Given the description of an element on the screen output the (x, y) to click on. 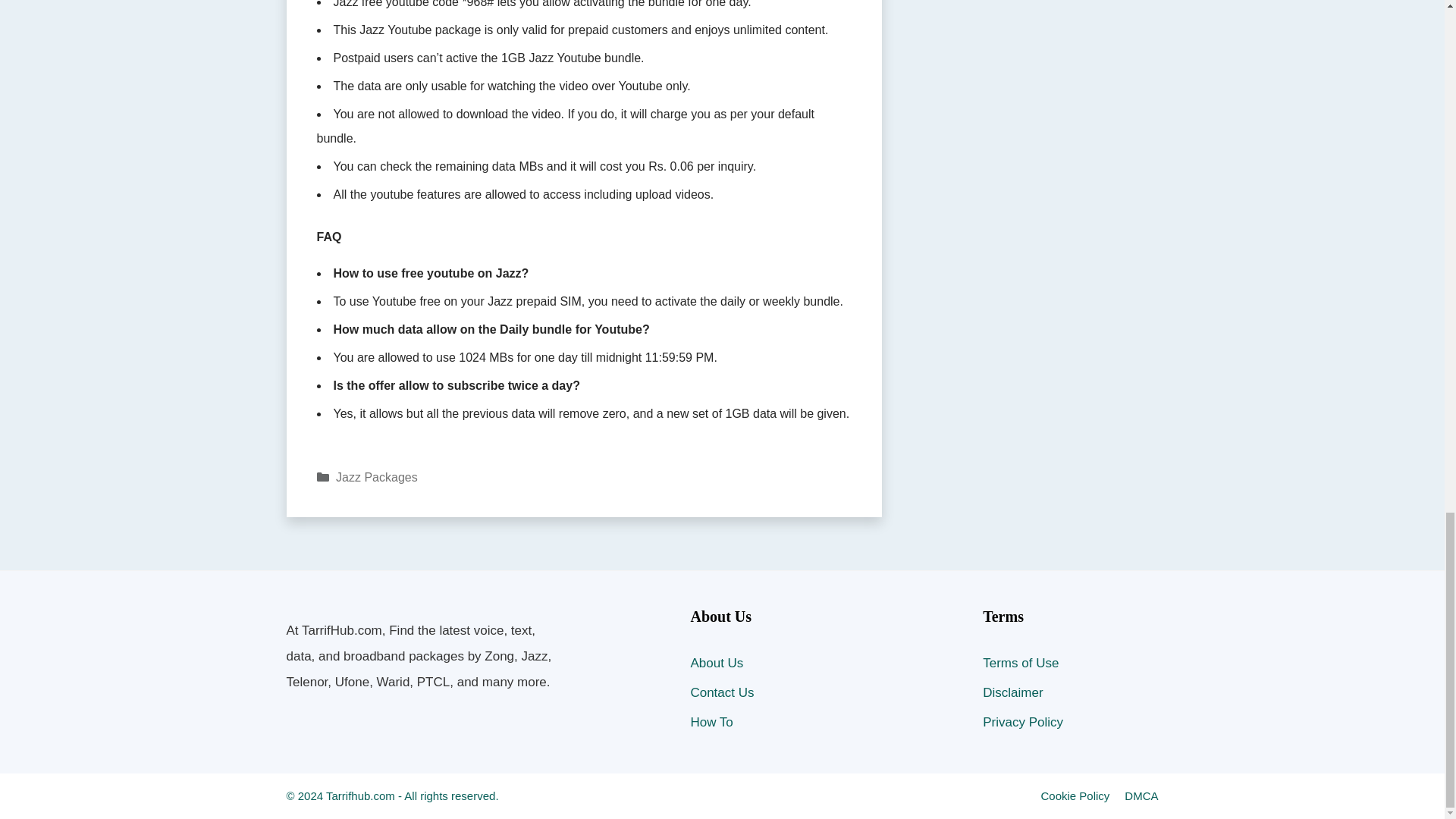
DMCA (1140, 795)
Privacy Policy (1022, 721)
Terms of Use (1020, 663)
About Us (716, 663)
Contact Us (722, 692)
Jazz Packages (376, 477)
Cookie Policy (1075, 795)
How To (711, 721)
Scroll back to top (1406, 146)
Disclaimer (1012, 692)
